Given the description of an element on the screen output the (x, y) to click on. 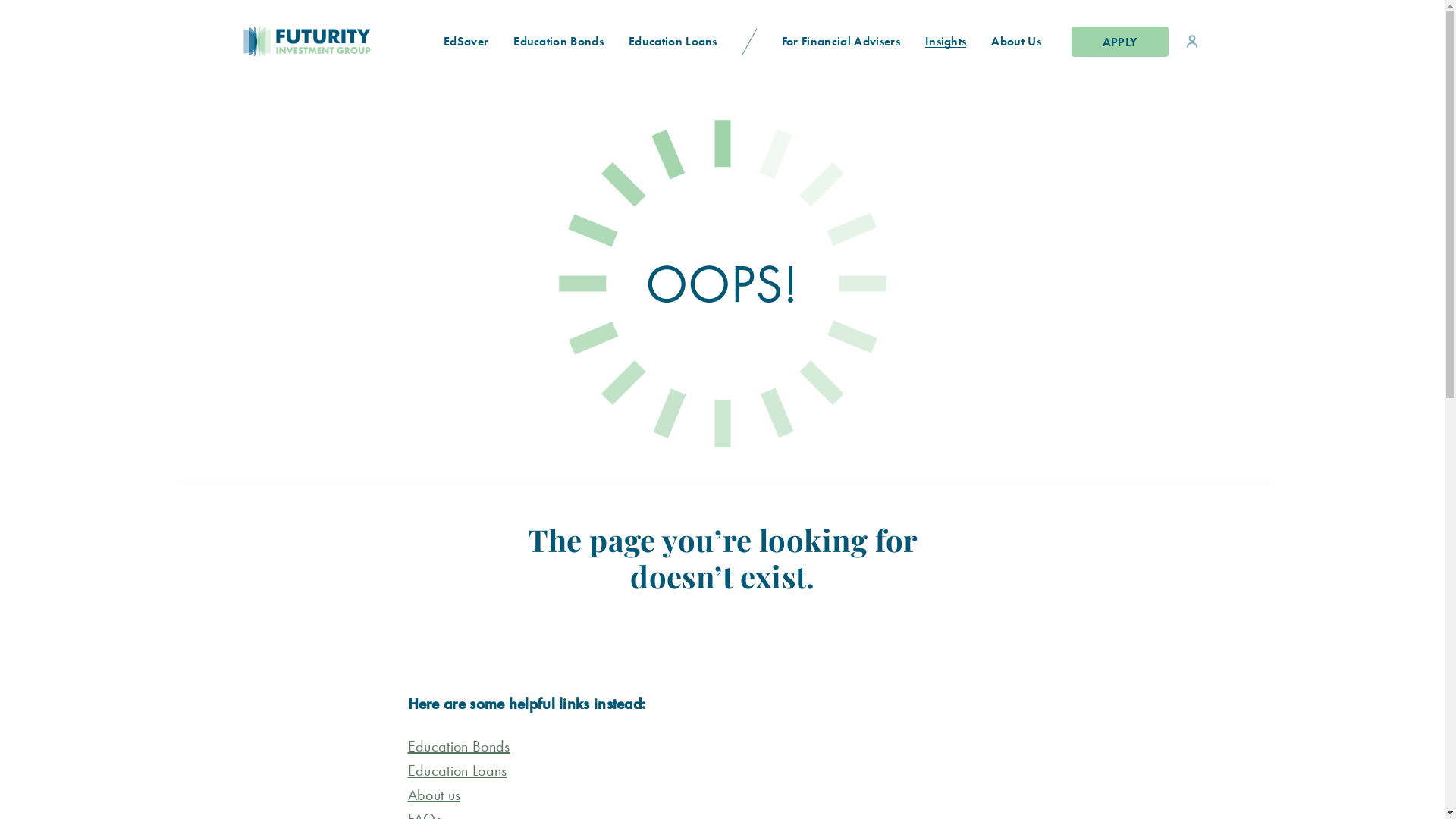
About Us Element type: text (1016, 40)
Insights Element type: text (945, 40)
APPLY Element type: text (1118, 40)
Futurity | Investment Group Element type: hover (255, 41)
EdSaver Element type: text (465, 40)
Education Bonds Element type: text (458, 746)
Education Bonds Element type: text (558, 40)
Education Loans Element type: text (457, 770)
For Financial Advisers Element type: text (840, 40)
About us Element type: text (434, 794)
Education Loans Element type: text (673, 40)
